Given the description of an element on the screen output the (x, y) to click on. 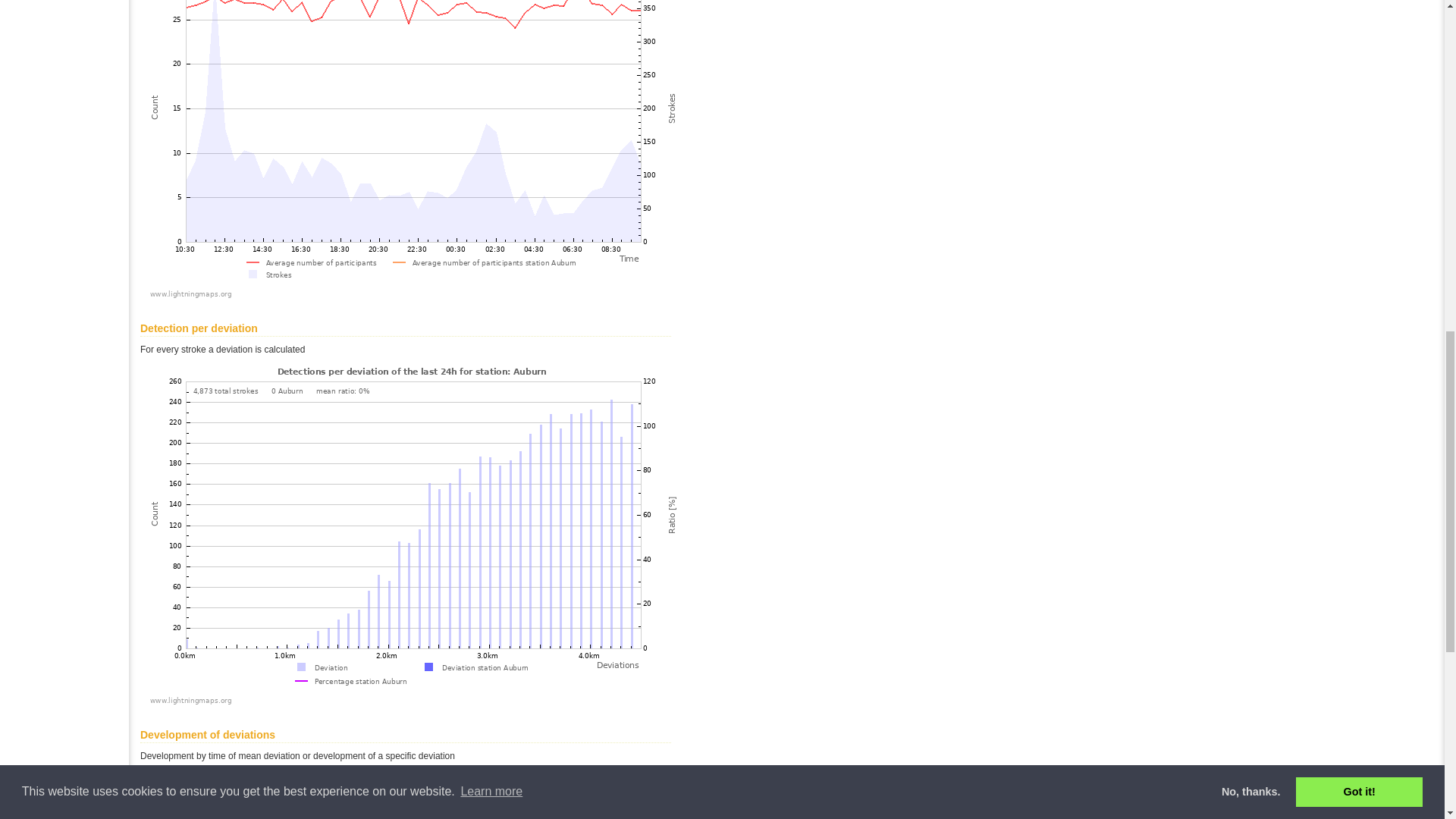
2 (212, 786)
1 (157, 786)
